Given the description of an element on the screen output the (x, y) to click on. 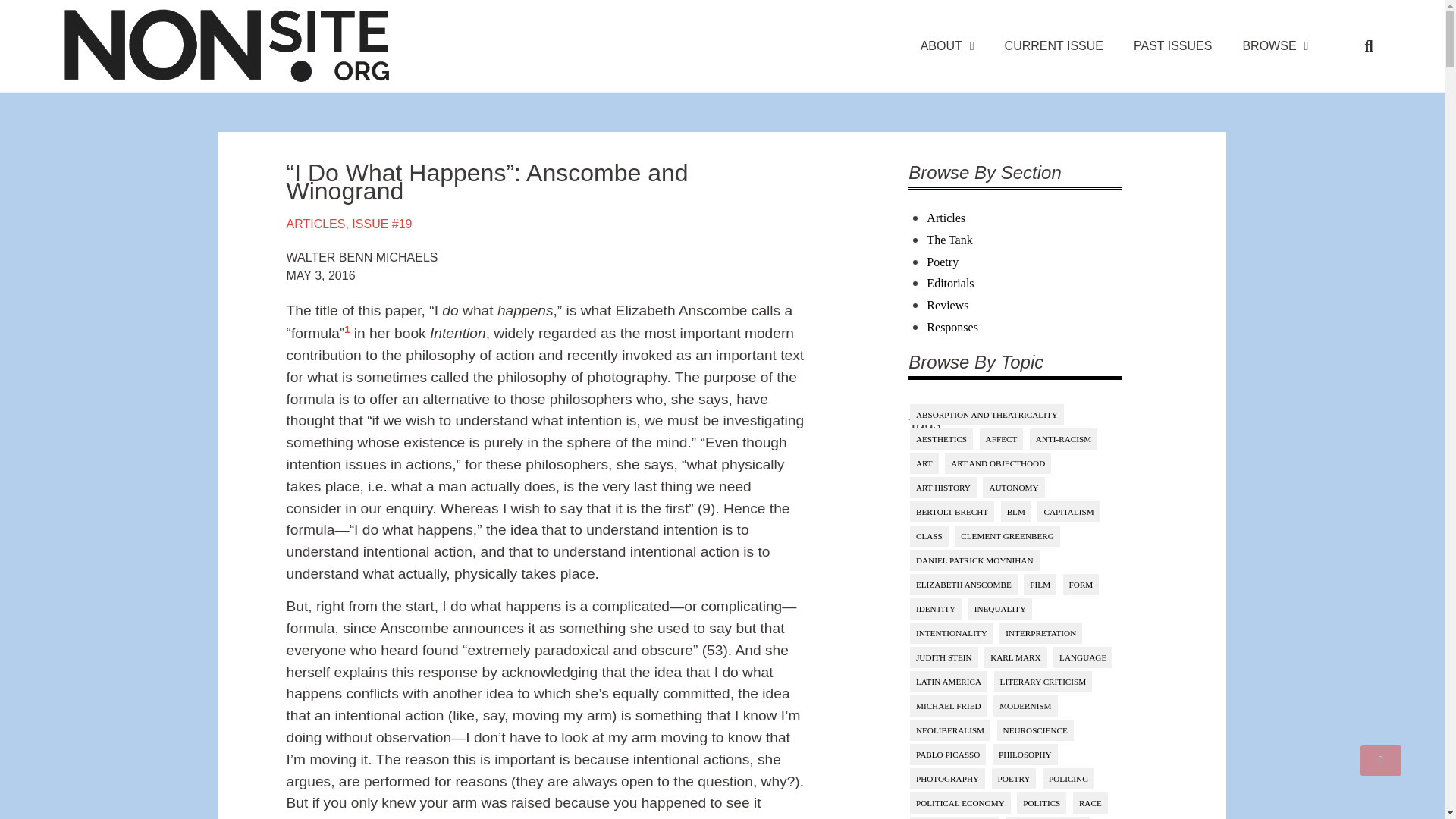
BROWSE (1275, 45)
ABOUT (947, 45)
WALTER BENN MICHAELS (362, 257)
CURRENT ISSUE (1054, 45)
ARTICLES (316, 223)
PAST ISSUES (1172, 45)
